Given the description of an element on the screen output the (x, y) to click on. 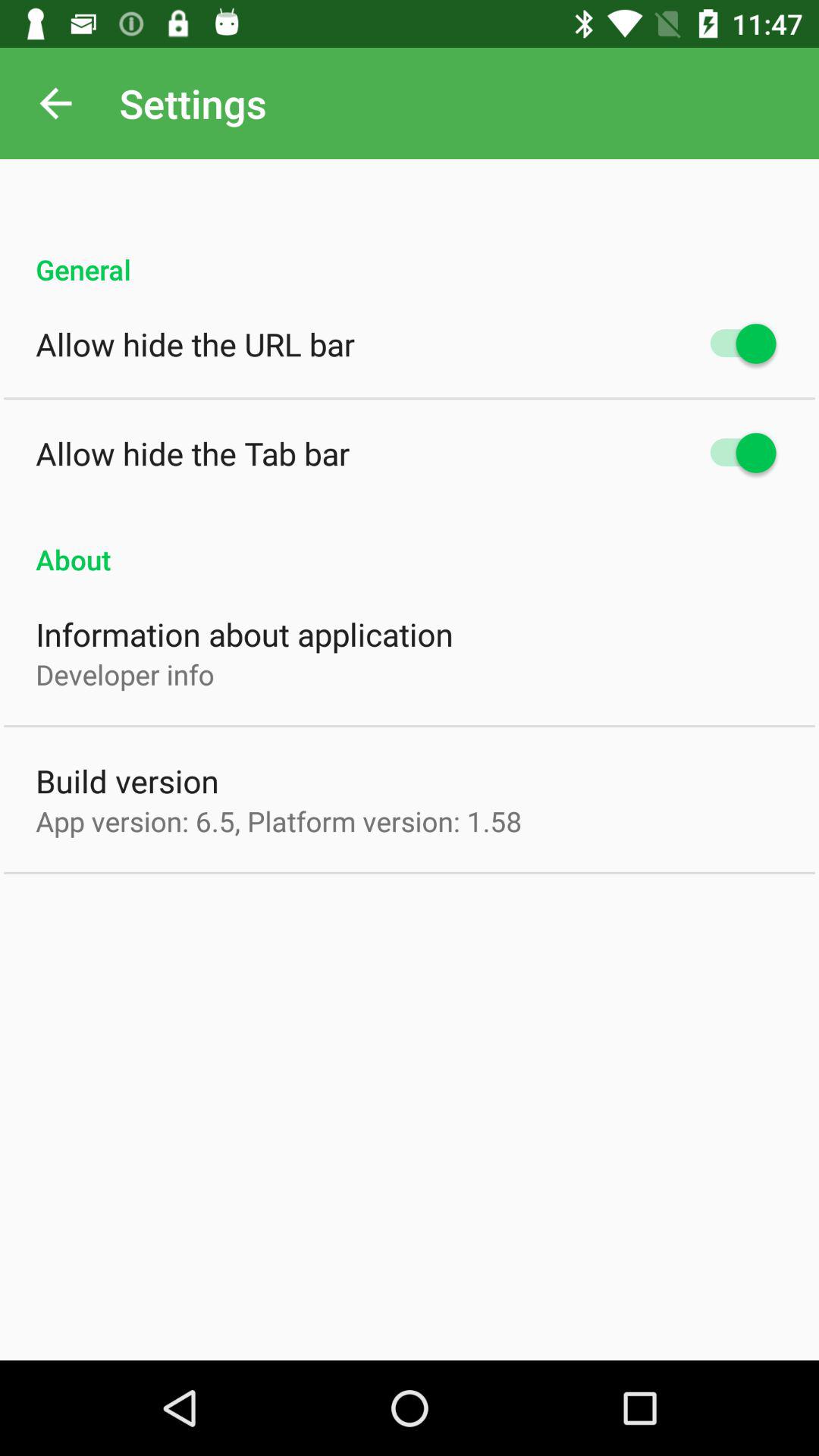
turn on the item below build version (278, 821)
